Given the description of an element on the screen output the (x, y) to click on. 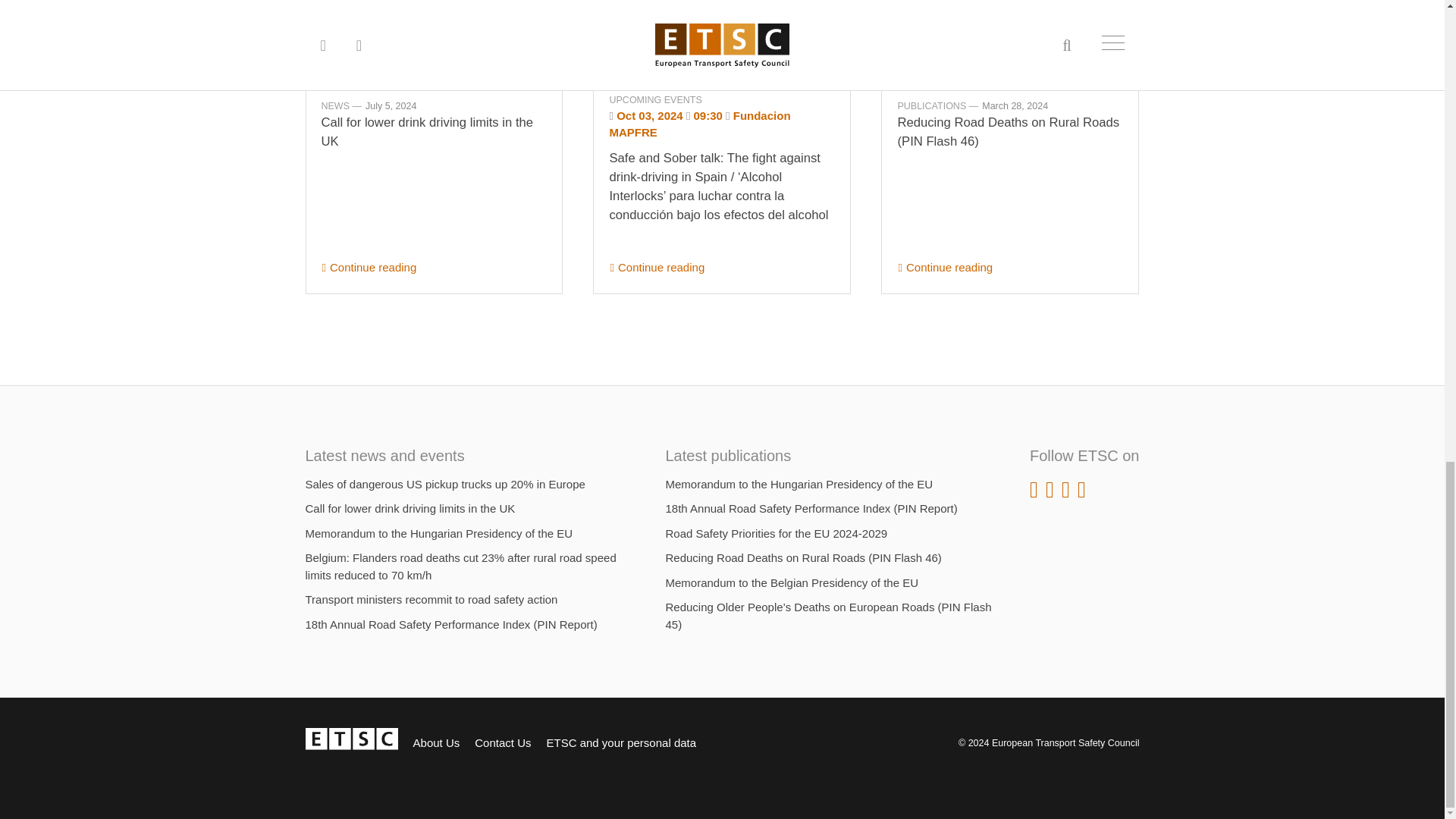
ETSC (350, 743)
